Given the description of an element on the screen output the (x, y) to click on. 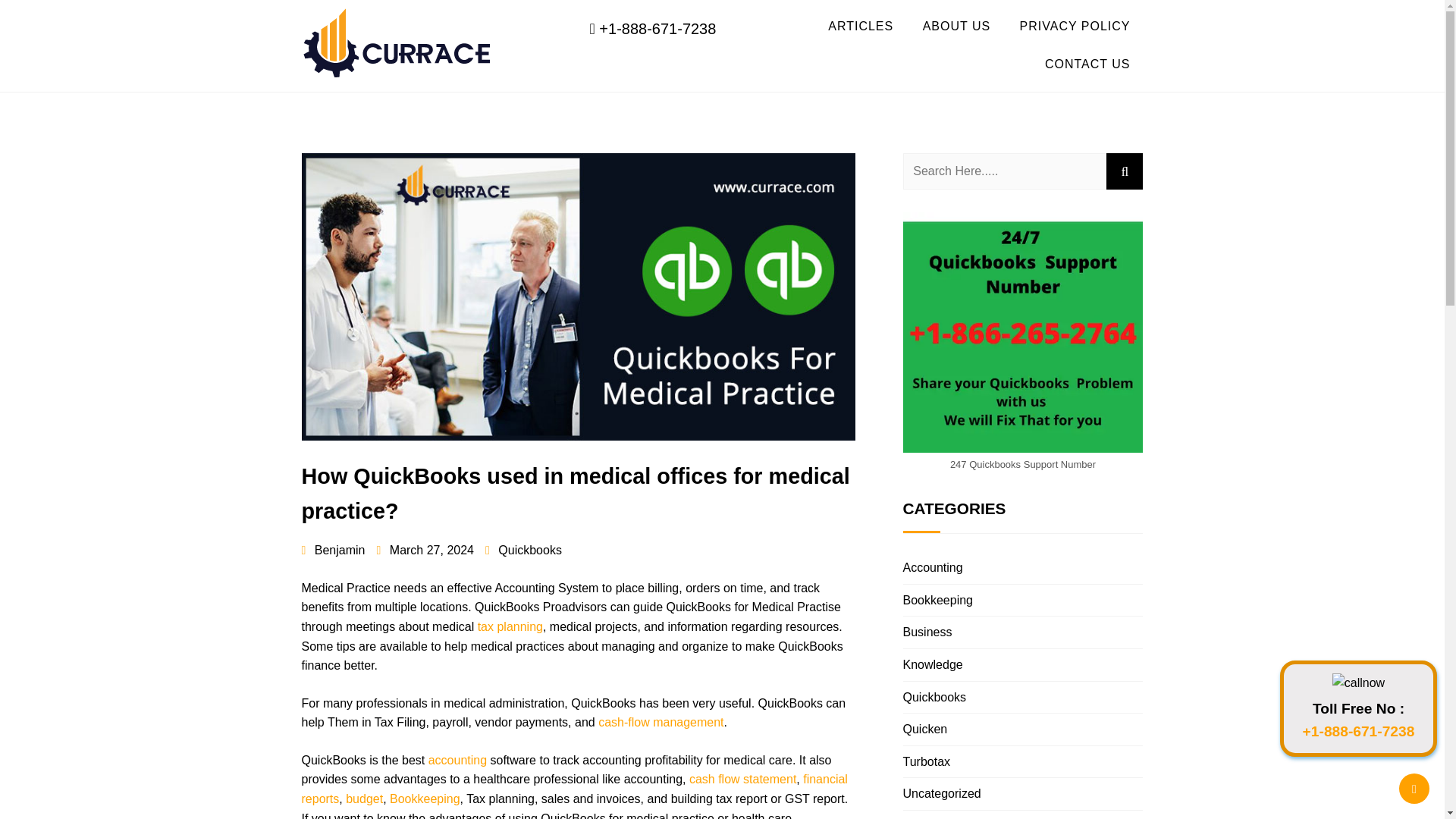
Quicken (924, 728)
Knowledge (932, 664)
cash-flow management (660, 721)
cash flow statement (742, 779)
Benjamin (333, 549)
financial reports (574, 789)
Accounting (932, 567)
accounting (457, 759)
budget (364, 798)
ABOUT US (957, 26)
CONTACT US (1087, 64)
Uncategorized (940, 793)
Bookkeeping (937, 599)
Quickbooks (934, 697)
Bookkeeping (425, 798)
